Given the description of an element on the screen output the (x, y) to click on. 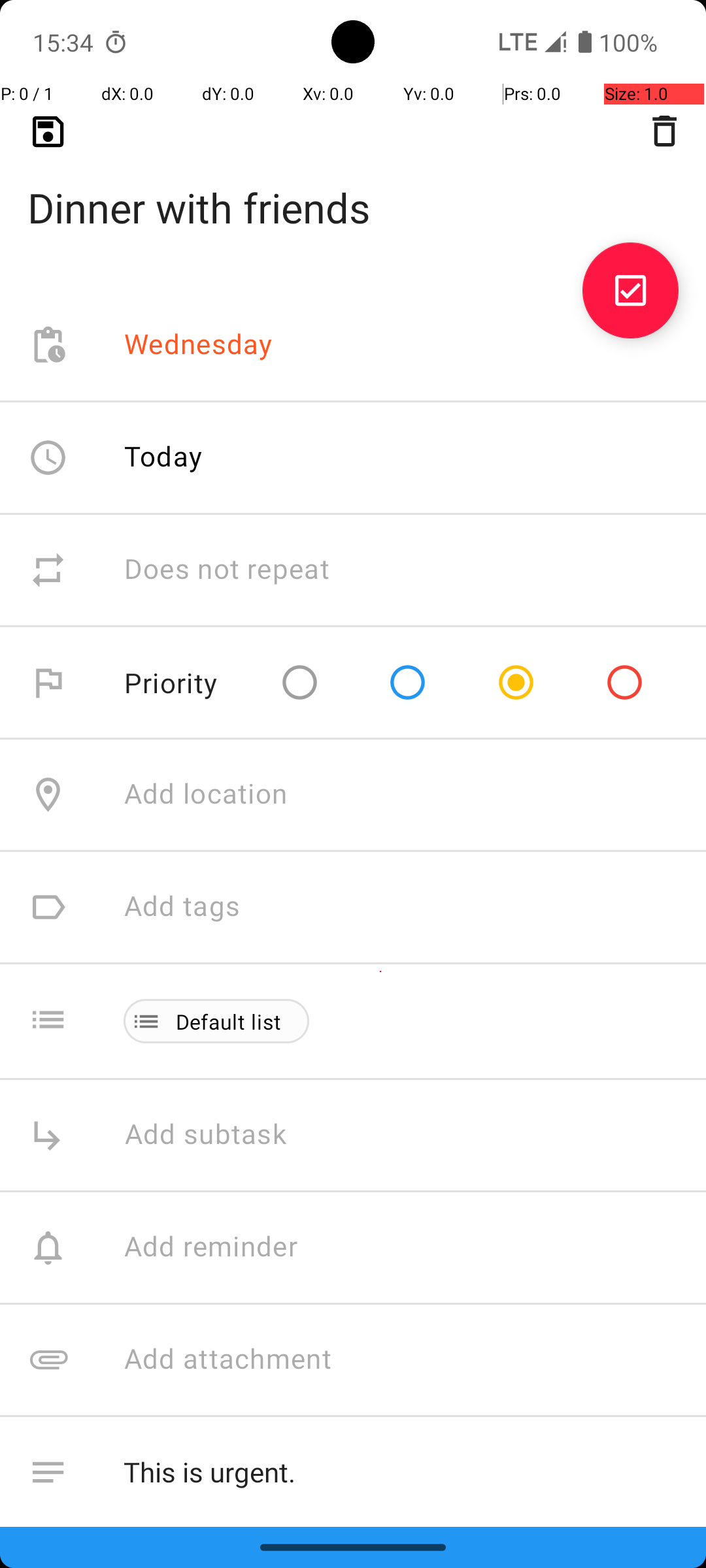
Dinner with friends Element type: android.widget.EditText (353, 186)
This is urgent. Element type: android.widget.EditText (400, 1472)
